Given the description of an element on the screen output the (x, y) to click on. 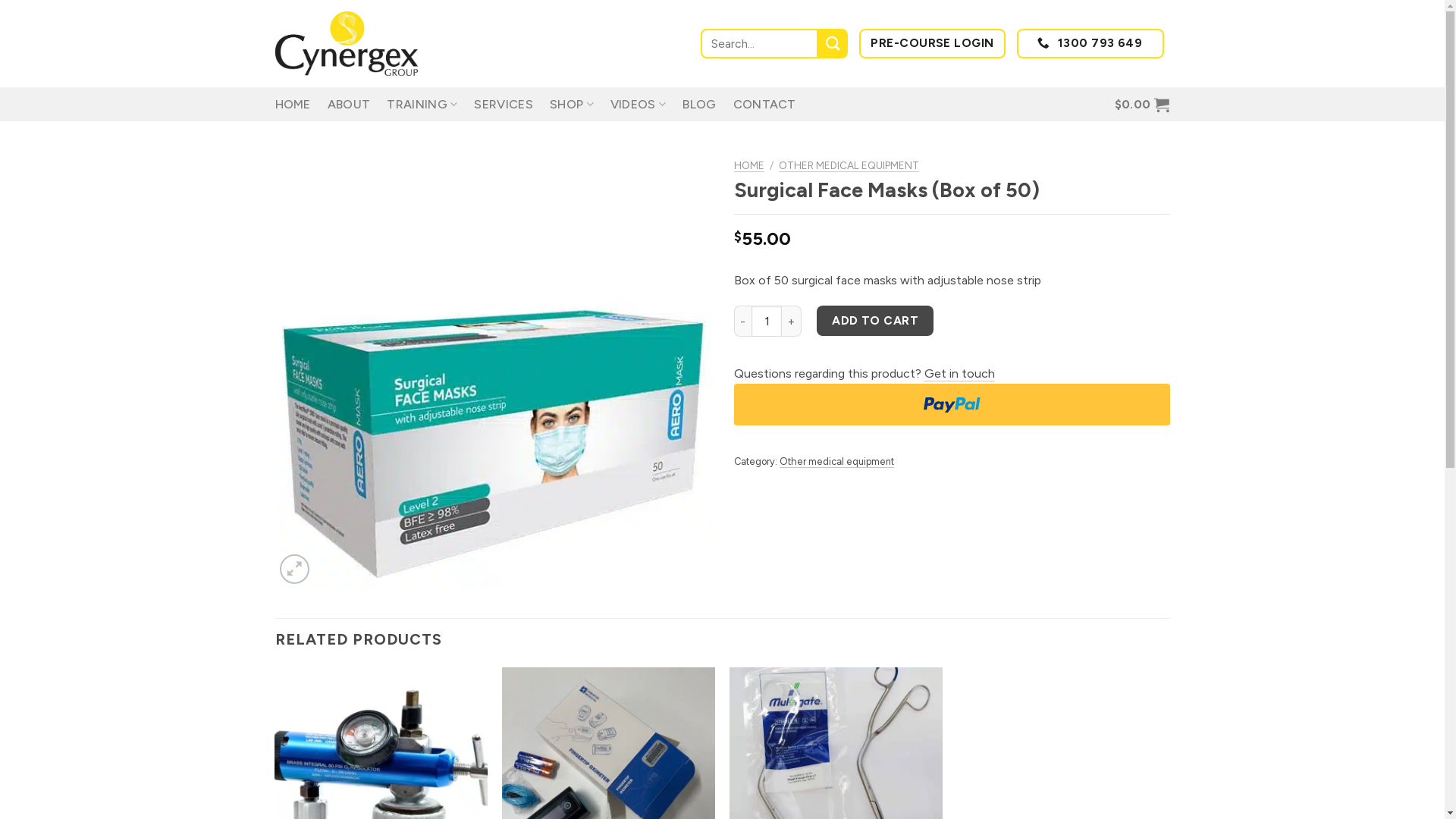
HOME Element type: text (749, 165)
Masks Element type: hover (492, 367)
HOME Element type: text (292, 104)
TRAINING Element type: text (421, 104)
VIDEOS Element type: text (637, 104)
Search Element type: text (832, 43)
$0.00 Element type: text (1142, 104)
Get in touch Element type: text (958, 373)
ADD TO CART Element type: text (874, 320)
CONTACT Element type: text (764, 104)
PayPal Element type: hover (952, 404)
PRE-COURSE LOGIN Element type: text (932, 43)
SERVICES Element type: text (503, 104)
Other medical equipment Element type: text (836, 461)
OTHER MEDICAL EQUIPMENT Element type: text (848, 165)
Cynergex Group - My WordPress Blog Element type: hover (350, 43)
1300 793 649 Element type: text (1090, 43)
ABOUT Element type: text (348, 104)
Zoom Element type: hover (294, 568)
BLOG Element type: text (698, 104)
SHOP Element type: text (571, 104)
